Given the description of an element on the screen output the (x, y) to click on. 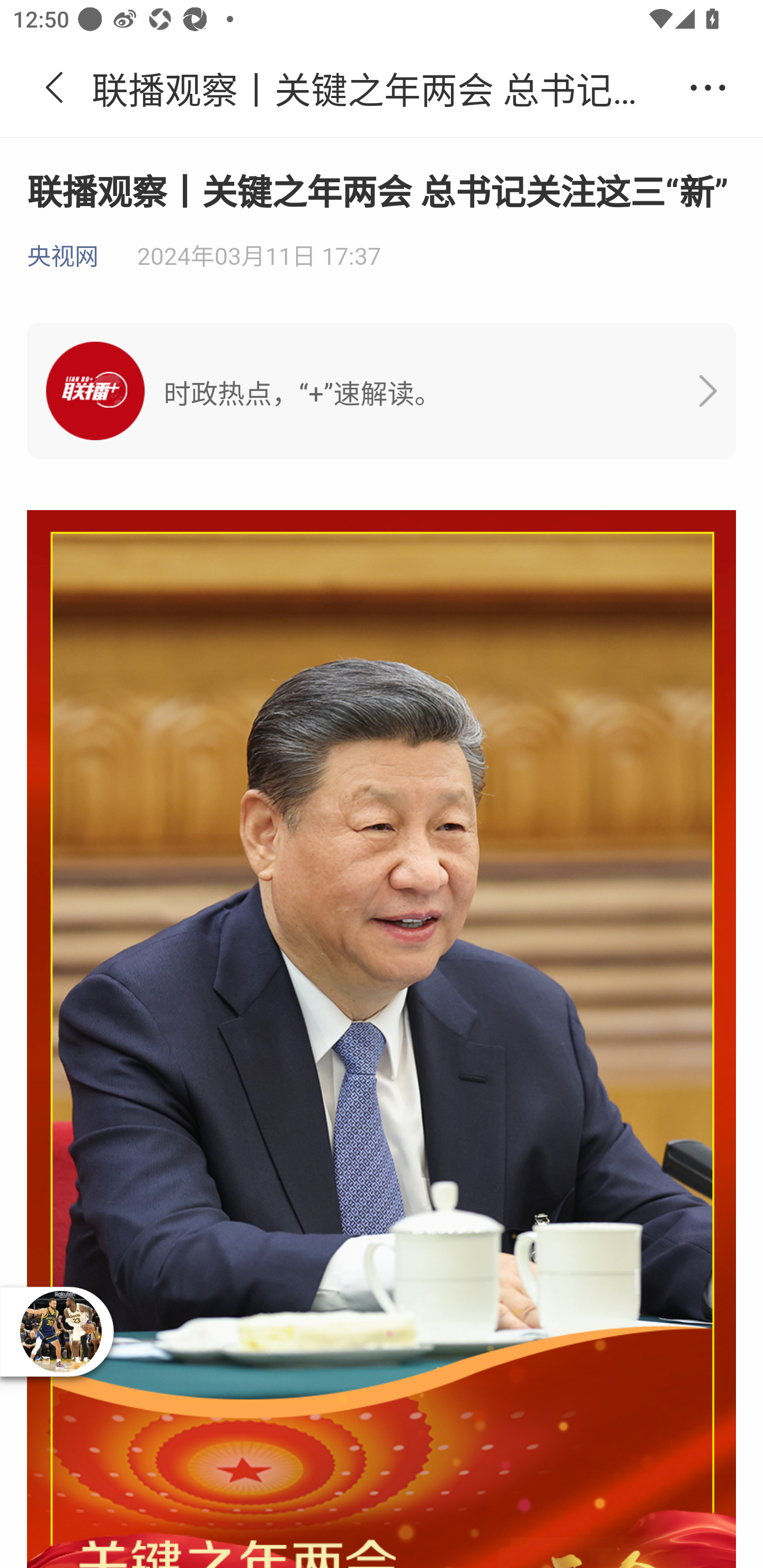
联播观察丨关键之年两会 总书记关注这三“新” (381, 87)
 返回 (54, 87)
 更多 (707, 87)
央视网 (62, 257)
时政热点，“+”速解读。 1617256979184_623 时政热点，“+”速解读。 (381, 390)
播放器 (60, 1331)
